Given the description of an element on the screen output the (x, y) to click on. 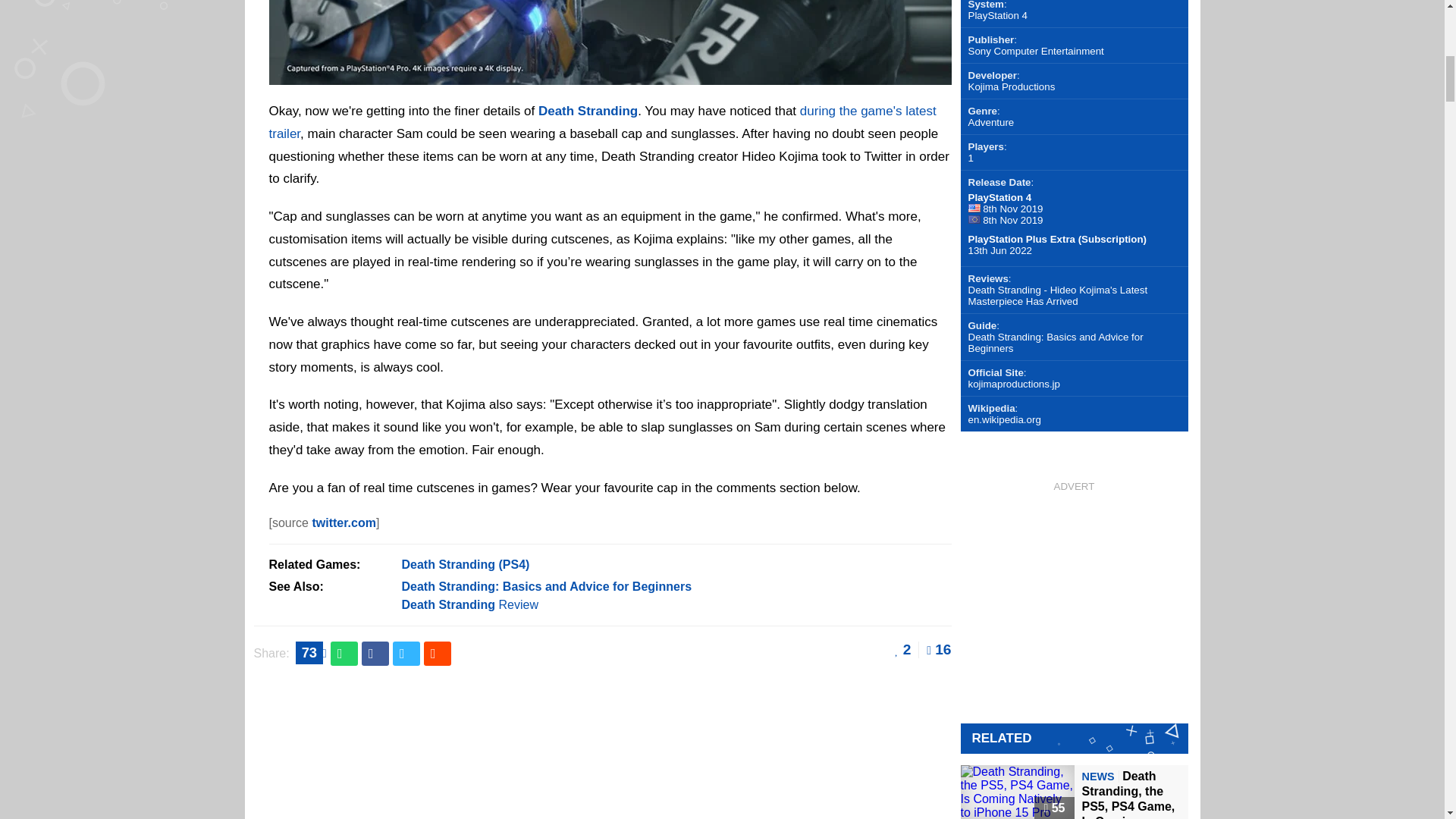
Death Stranding Character Customisation (608, 74)
Death Stranding: Basics and Advice for Beginners (547, 585)
